Given the description of an element on the screen output the (x, y) to click on. 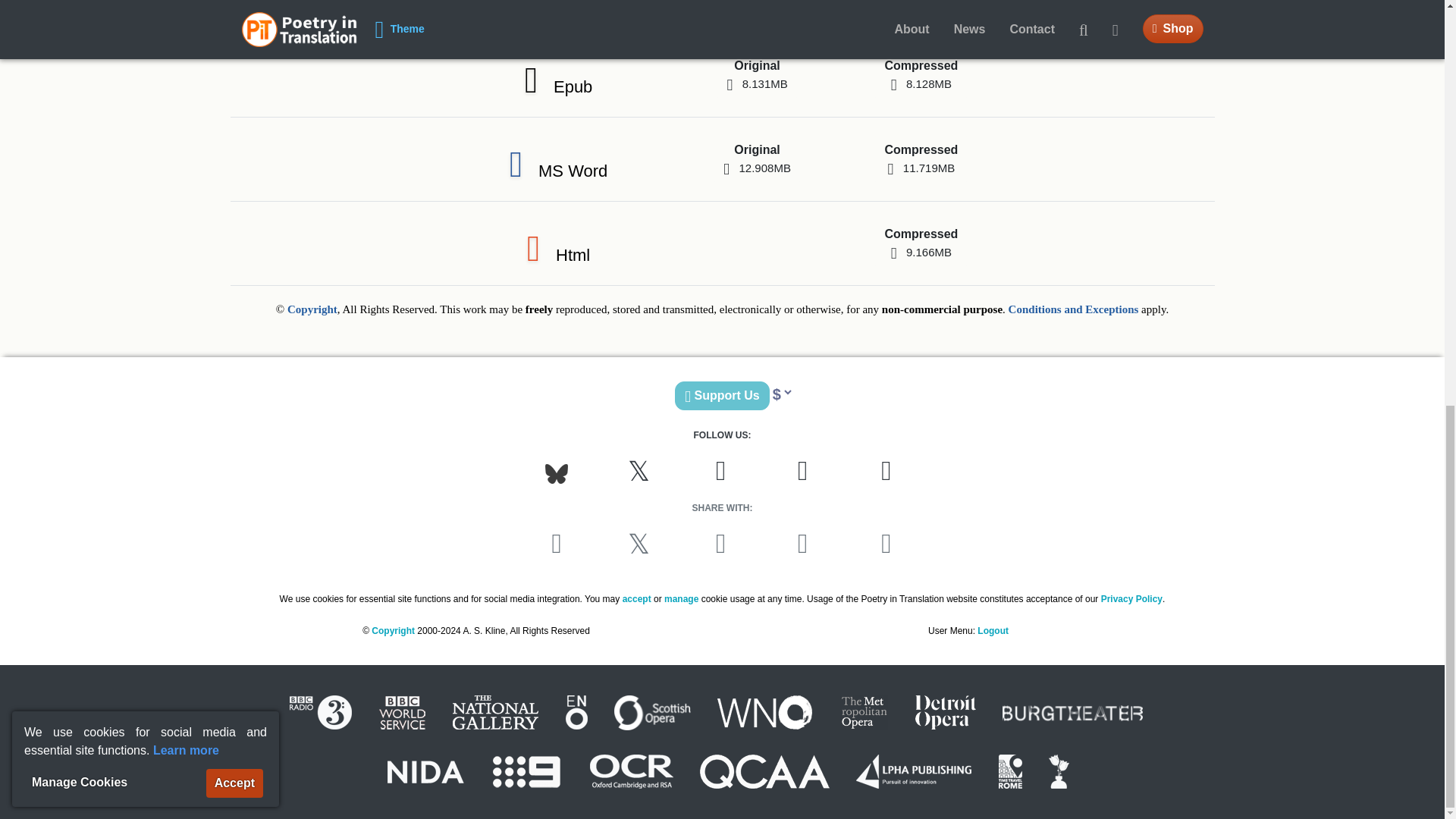
Conditions and Exceptions (921, 158)
Copyright (1073, 309)
Copyright (756, 74)
Support Us (757, 7)
Privacy Policy (311, 309)
